Given the description of an element on the screen output the (x, y) to click on. 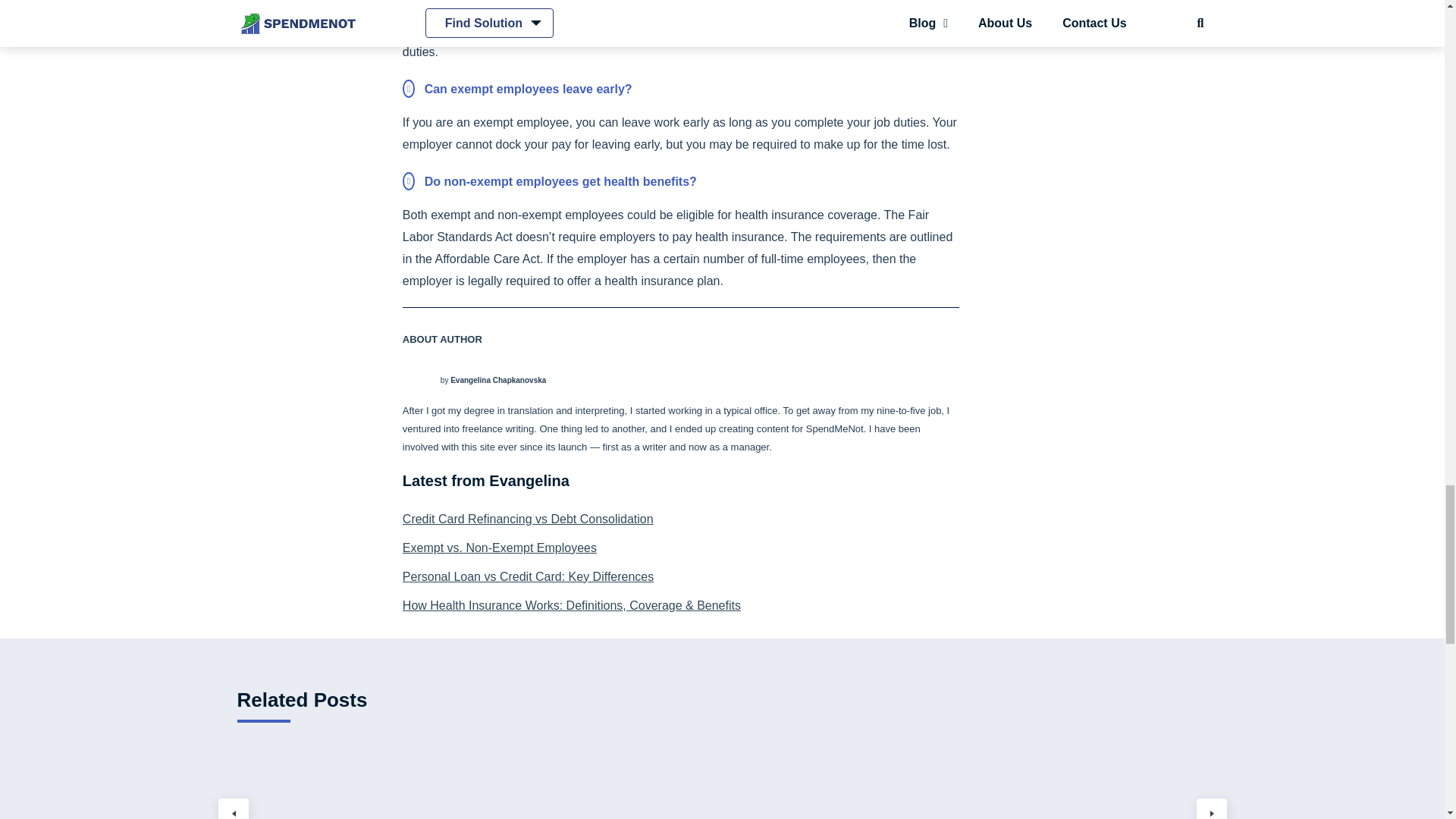
Exempt vs. Non-Exempt Employees (681, 547)
Personal Loan vs Credit Card: Key Differences (681, 577)
Credit Card Refinancing vs Debt Consolidation (681, 519)
Previous (233, 808)
